Given the description of an element on the screen output the (x, y) to click on. 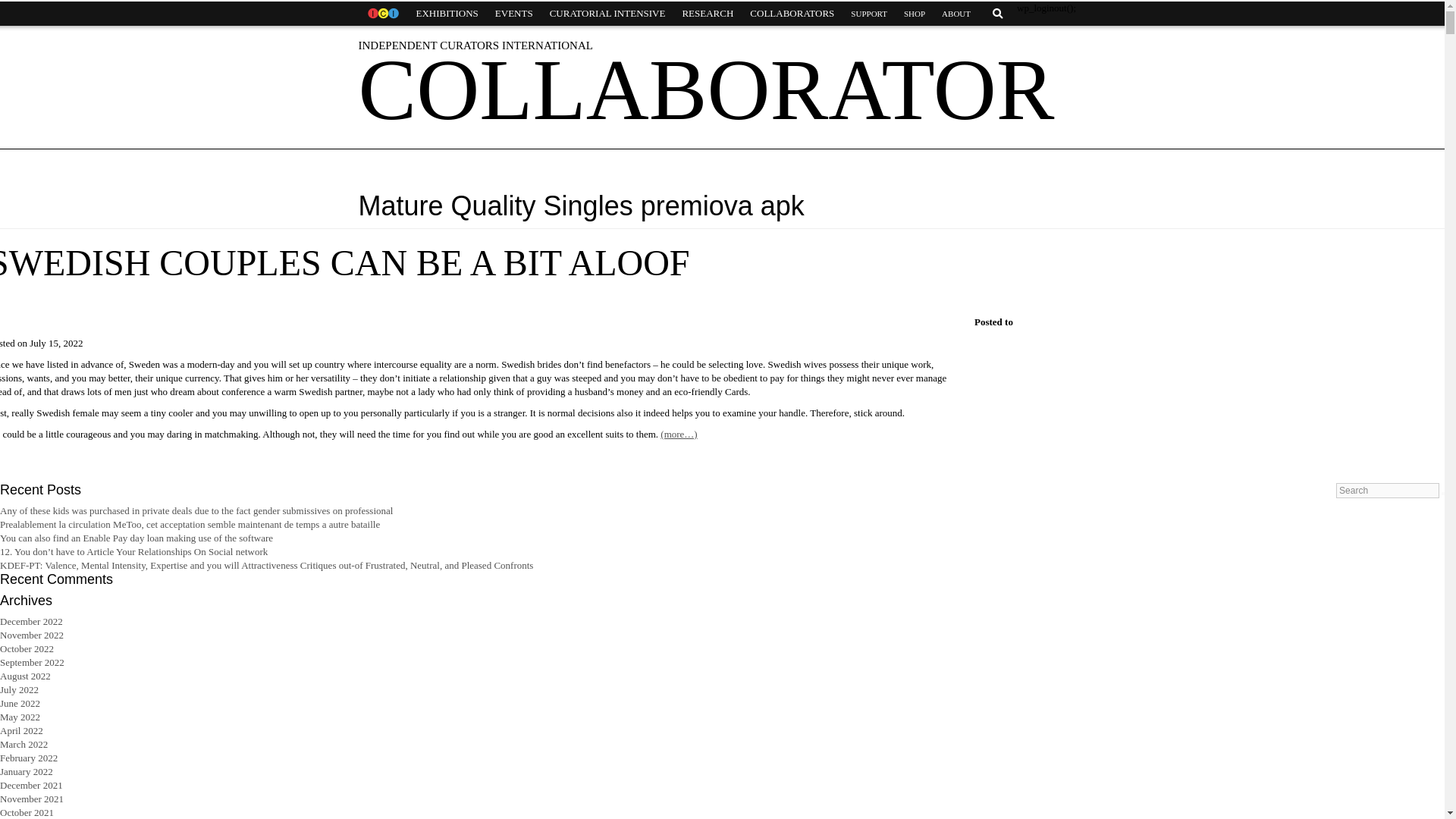
CURATORIAL INTENSIVE (607, 13)
HOME (382, 13)
EXHIBITIONS (446, 13)
RESEARCH (706, 13)
COLLABORATORS (792, 13)
EVENTS (513, 13)
